Given the description of an element on the screen output the (x, y) to click on. 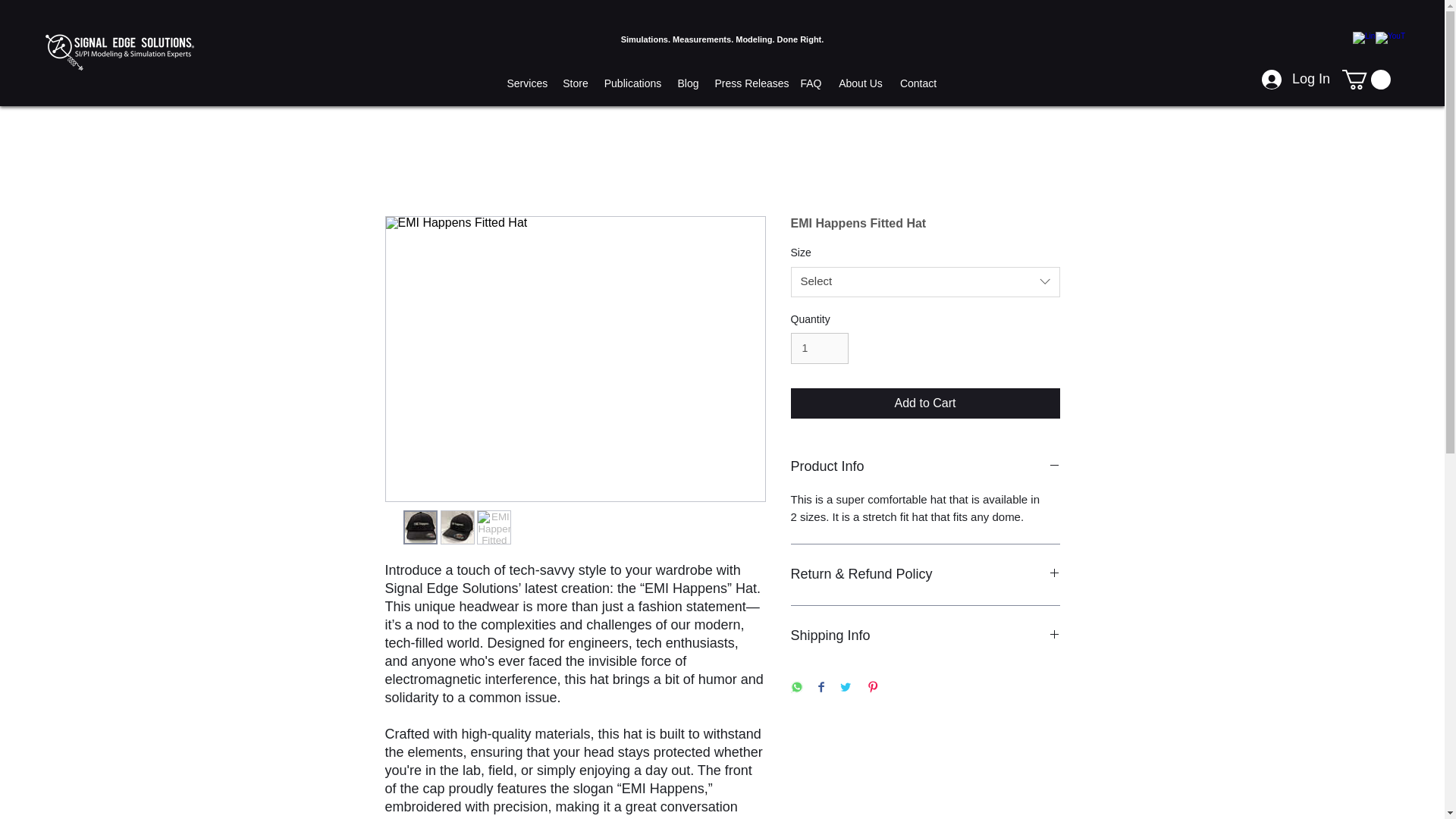
FAQ (810, 83)
Blog (687, 83)
Shipping Info (924, 636)
1 (818, 347)
About Us (860, 83)
Contact (917, 83)
Log In (1271, 79)
Press Releases (749, 83)
Select (924, 281)
Store (575, 83)
